Given the description of an element on the screen output the (x, y) to click on. 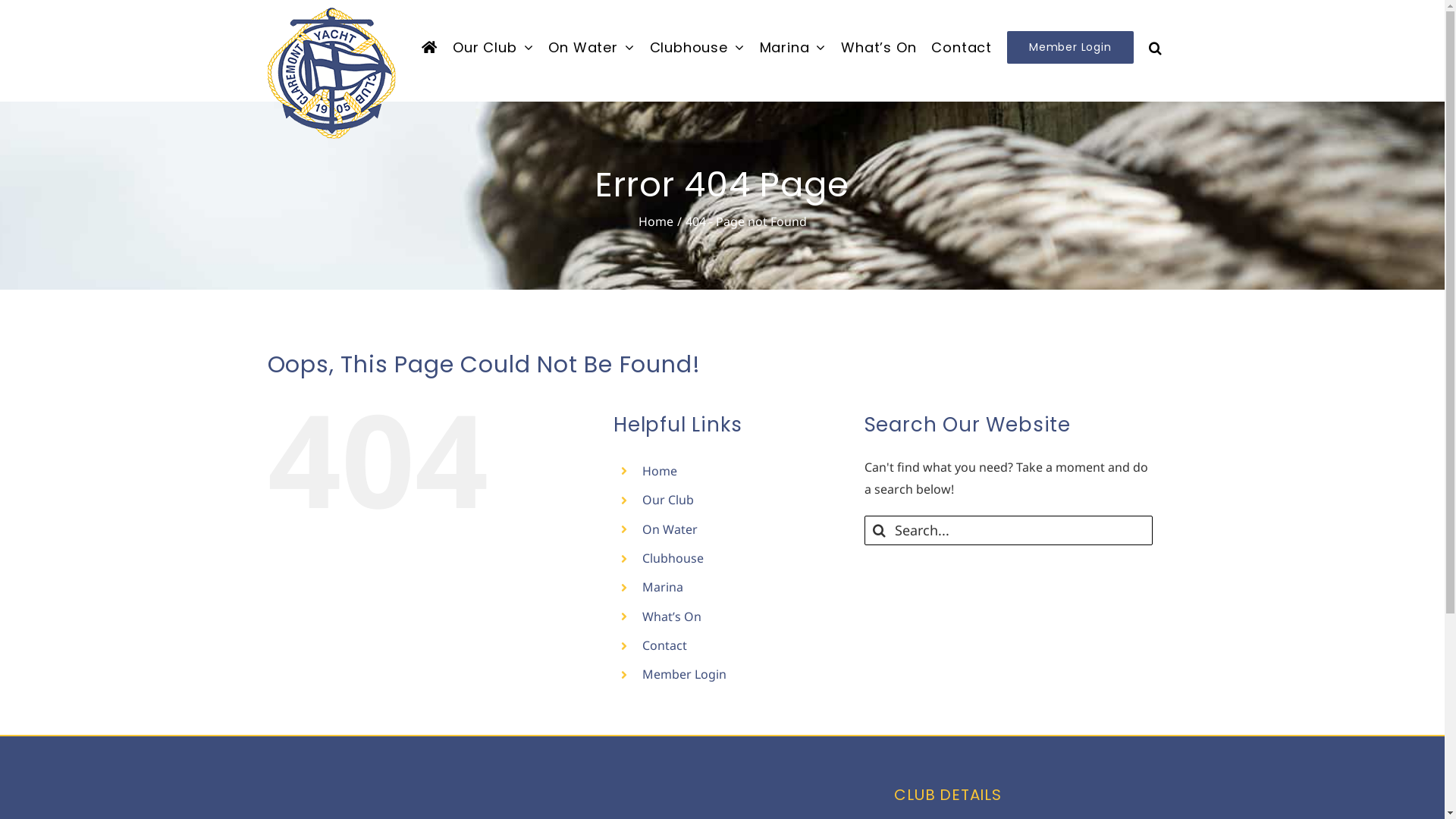
Marina Element type: text (662, 586)
Our Club Element type: text (667, 499)
On Water Element type: text (590, 47)
Contact Element type: text (961, 47)
Clubhouse Element type: text (672, 557)
Member Login Element type: text (1070, 47)
Clubhouse Element type: text (696, 47)
Member Login Element type: text (684, 673)
On Water Element type: text (669, 528)
Contact Element type: text (664, 645)
Home Element type: text (659, 470)
Marina Element type: text (792, 47)
Home Element type: text (655, 221)
Search Element type: hover (1155, 47)
Our Club Element type: text (492, 47)
